Given the description of an element on the screen output the (x, y) to click on. 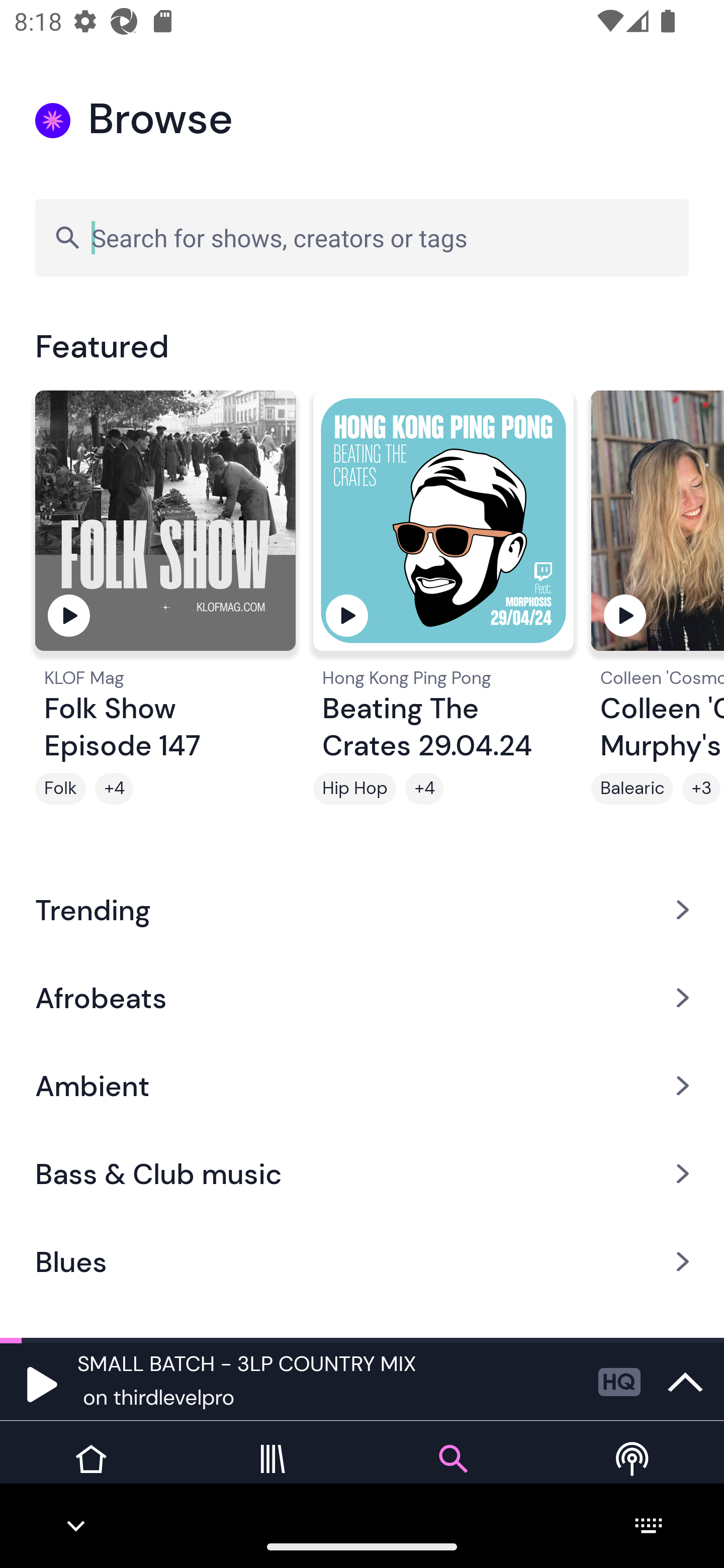
Search for shows, creators or tags (361, 237)
Folk (60, 788)
Hip Hop (354, 788)
Balearic (632, 788)
Trending (361, 909)
Afrobeats (361, 997)
Ambient (361, 1085)
Bass & Club music (361, 1174)
Blues (361, 1262)
Home tab (90, 1473)
Library tab (271, 1473)
Browse tab (452, 1473)
Live tab (633, 1473)
